Given the description of an element on the screen output the (x, y) to click on. 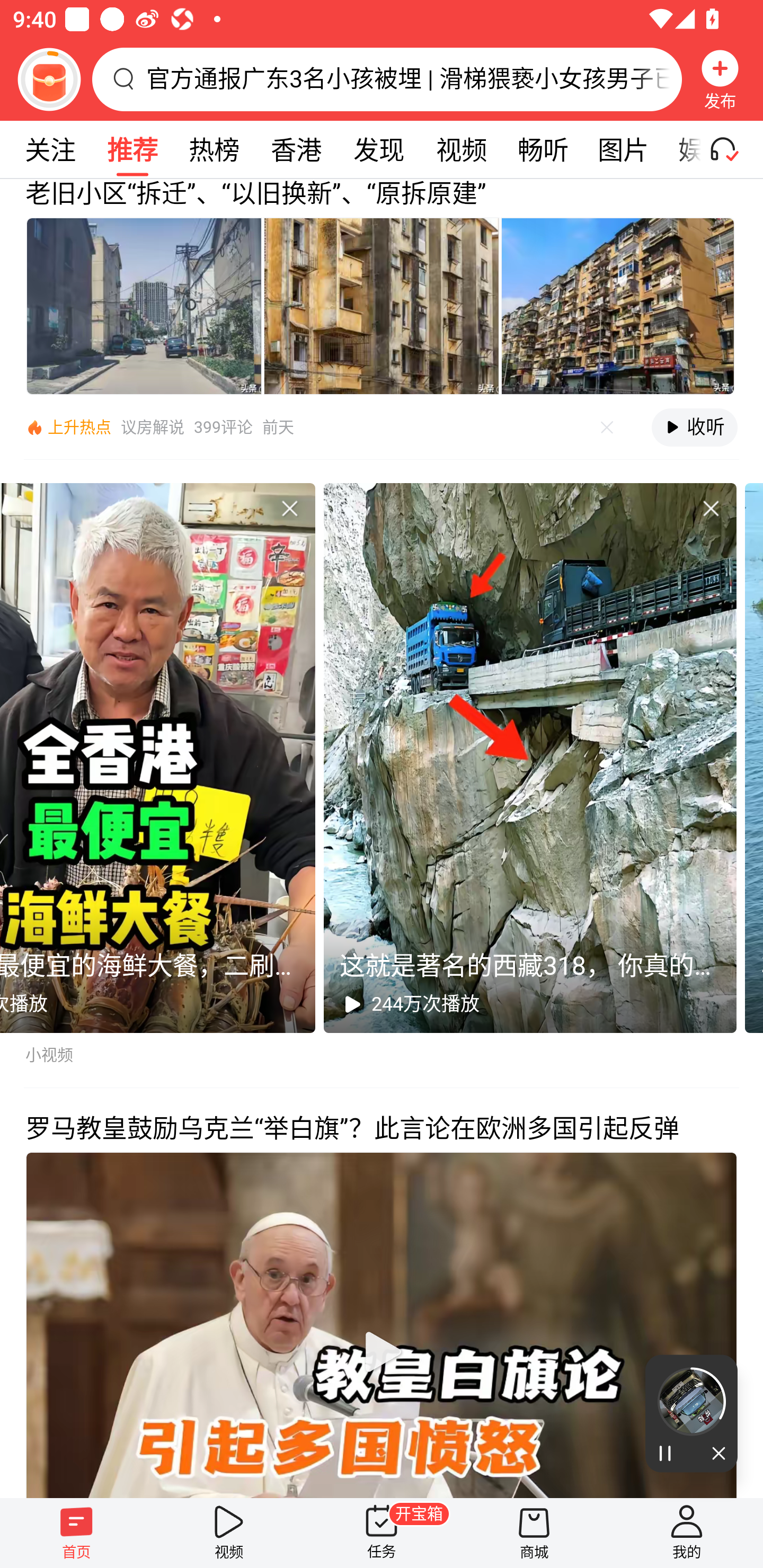
阅读赚金币 (48, 79)
发布 发布，按钮 (720, 78)
关注 (50, 149)
推荐 (132, 149)
热榜 (213, 149)
香港 (295, 149)
发现 (378, 149)
视频 (461, 149)
畅听 (542, 149)
图片 (623, 149)
听一听开关 (732, 149)
内容图片 (143, 305)
内容图片 (381, 305)
内容图片 (617, 305)
收听 (694, 426)
不感兴趣 (607, 427)
不感兴趣 (289, 507)
不感兴趣 (711, 507)
罗马教皇鼓励乌克兰“举白旗”？此言论在欧洲多国引起反弹 播放视频 视频播放器，双击屏幕打开播放控制 (381, 1292)
播放视频 视频播放器，双击屏幕打开播放控制 (381, 1323)
播放视频 (381, 1351)
当前进度 33% 暂停 关闭 (691, 1413)
暂停 (668, 1454)
关闭 (714, 1454)
首页 (76, 1532)
视频 (228, 1532)
任务 开宝箱 (381, 1532)
商城 (533, 1532)
我的 (686, 1532)
